Given the description of an element on the screen output the (x, y) to click on. 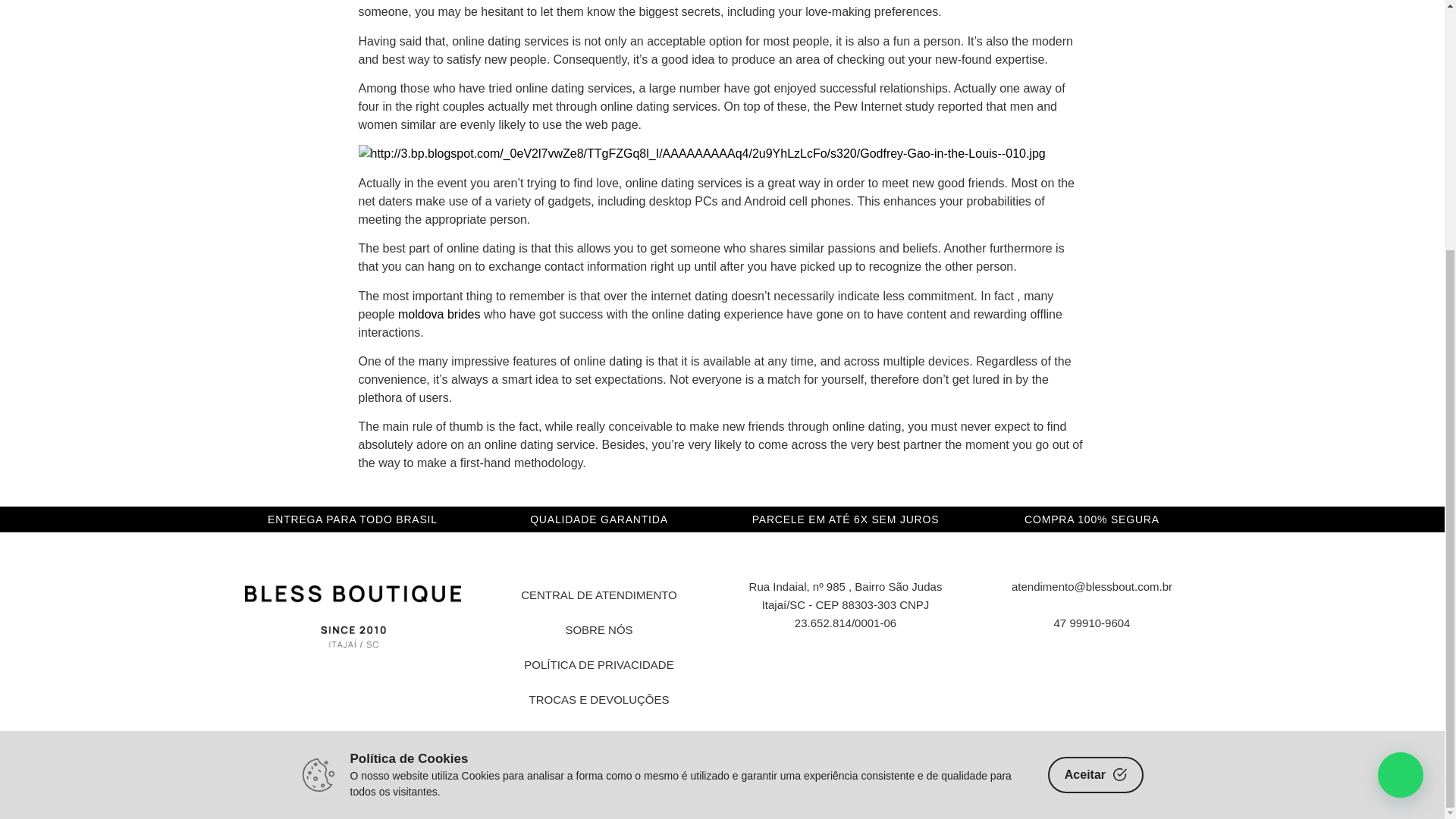
CENTRAL DE ATENDIMENTO (598, 595)
Desenvolvido por Blume Web Studio. (721, 801)
moldova brides (438, 314)
Aceitar (1095, 424)
